Given the description of an element on the screen output the (x, y) to click on. 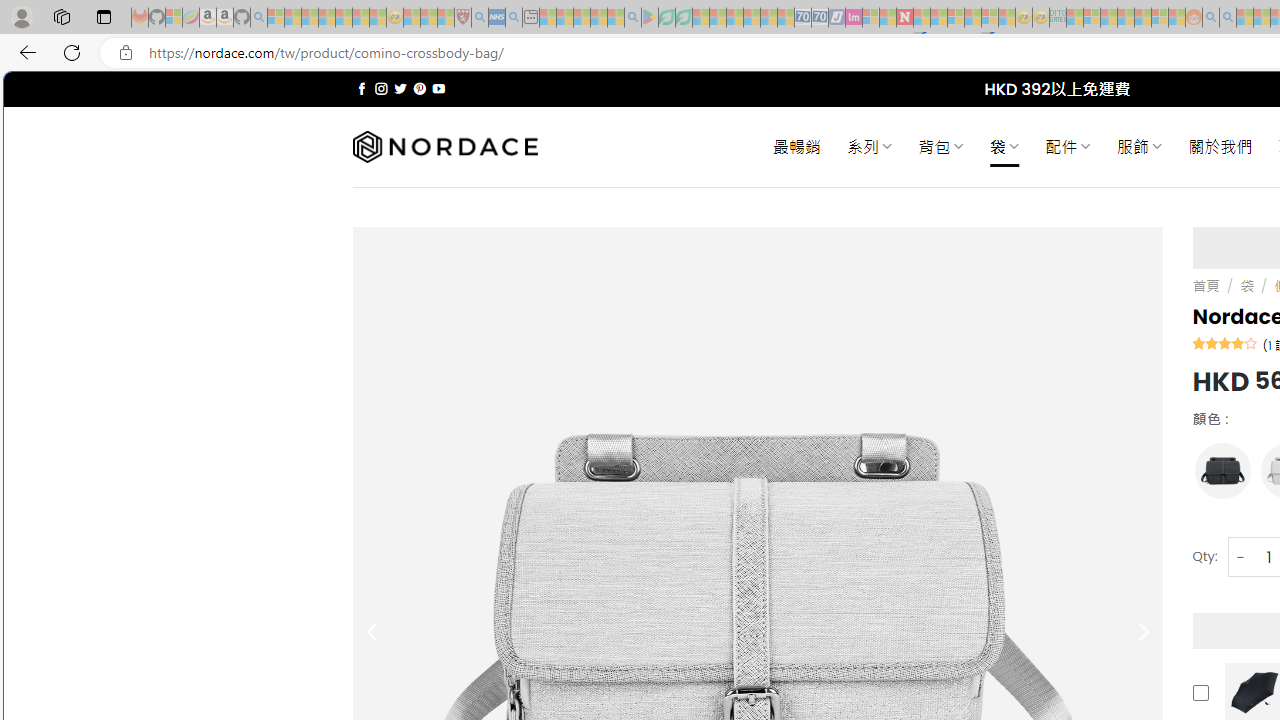
Bluey: Let's Play! - Apps on Google Play - Sleeping (649, 17)
Follow on YouTube (438, 88)
